Given the description of an element on the screen output the (x, y) to click on. 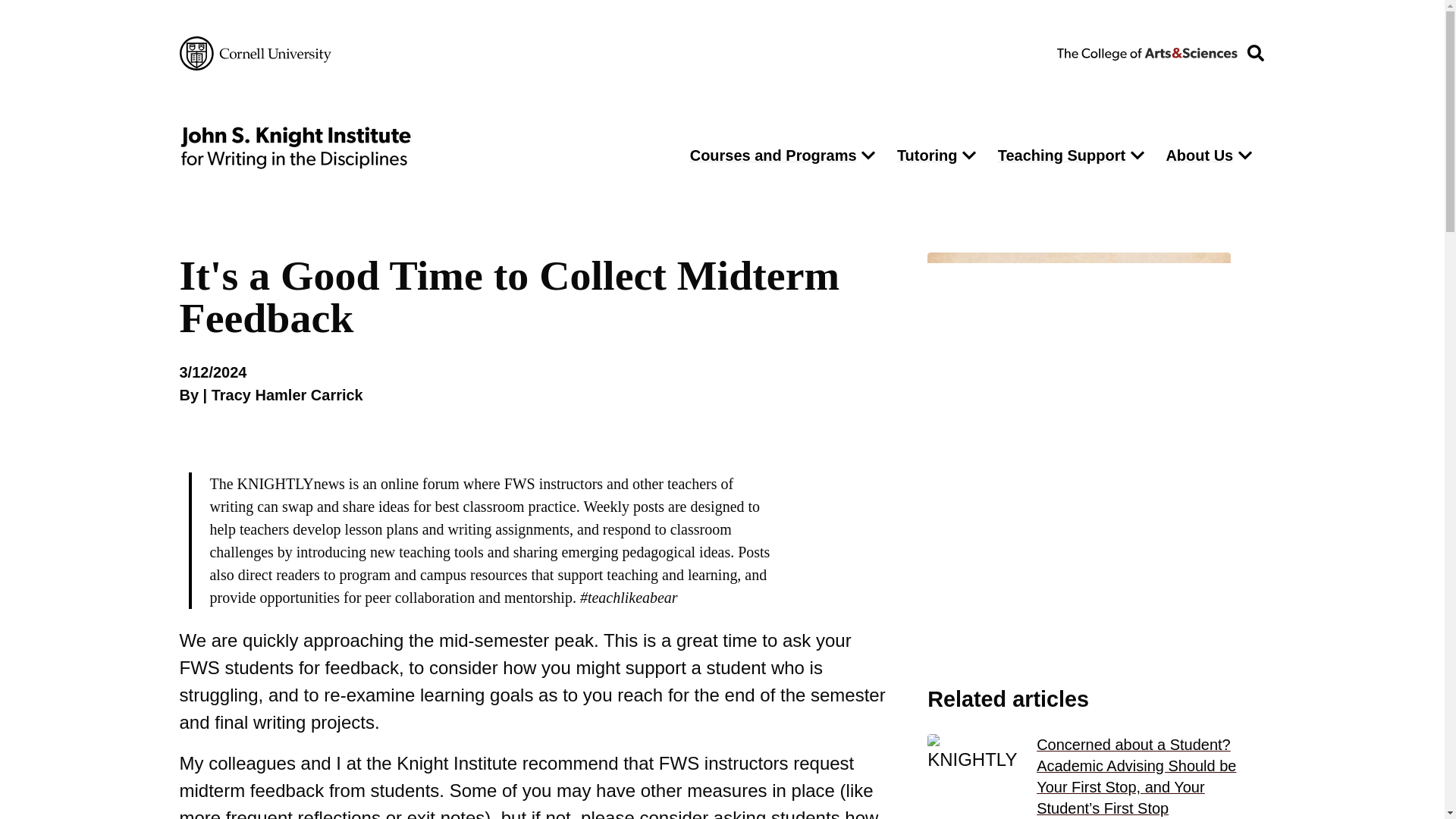
Department Homepage (420, 147)
Tutoring (923, 155)
College of Arts and Sciences (1146, 52)
About Us (1195, 155)
Courses and Programs (769, 155)
Cornell University (254, 53)
Search (975, 196)
Cornell University (254, 53)
Open search (1255, 53)
Teaching Support (1057, 155)
